Given the description of an element on the screen output the (x, y) to click on. 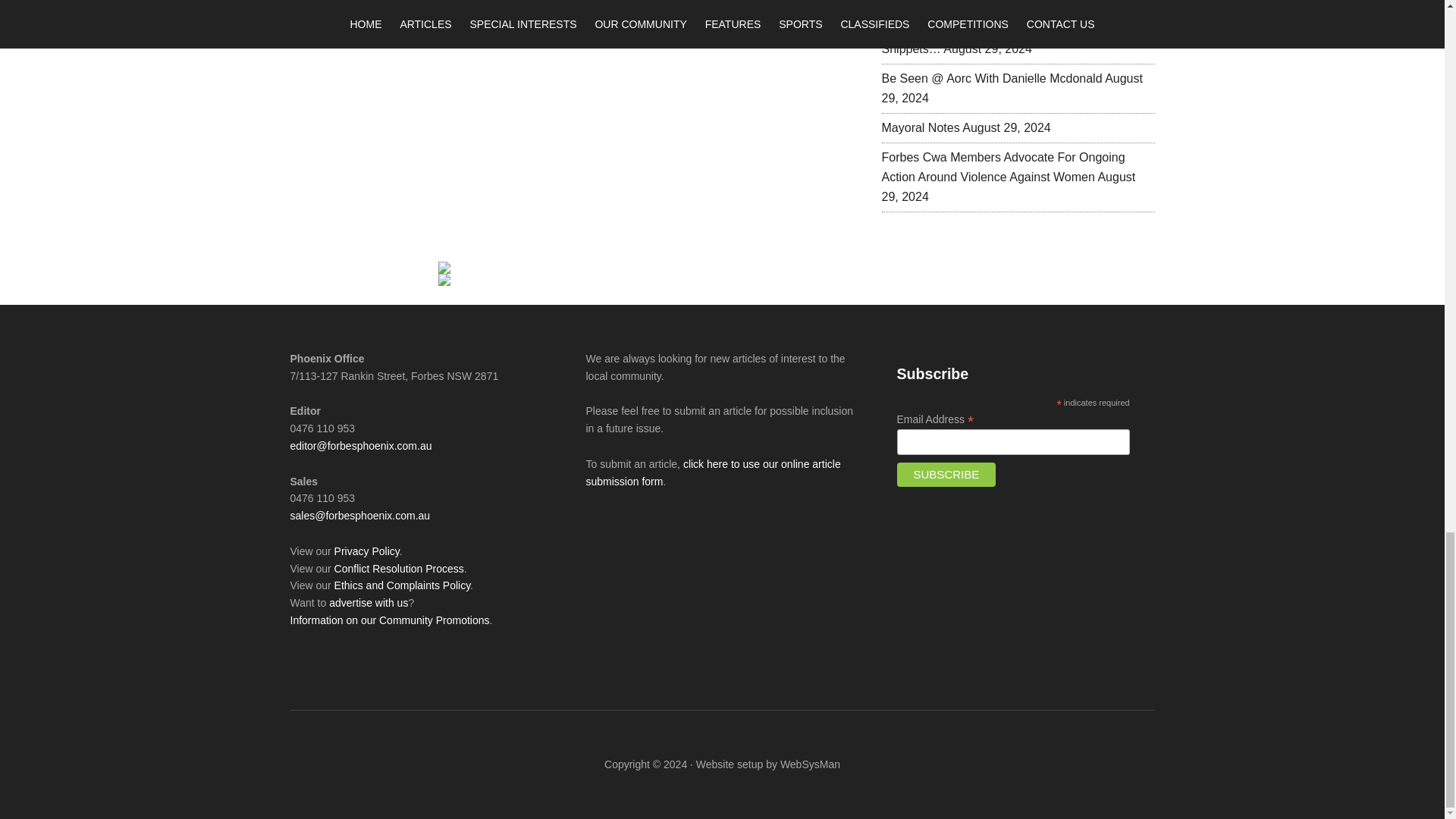
Submit an Article (712, 472)
Privacy Policy (366, 551)
Ethics and Complaints Policy (402, 585)
Advertise with Us (368, 603)
Conflict Resolution Process (399, 568)
Subscribe (945, 474)
